Given the description of an element on the screen output the (x, y) to click on. 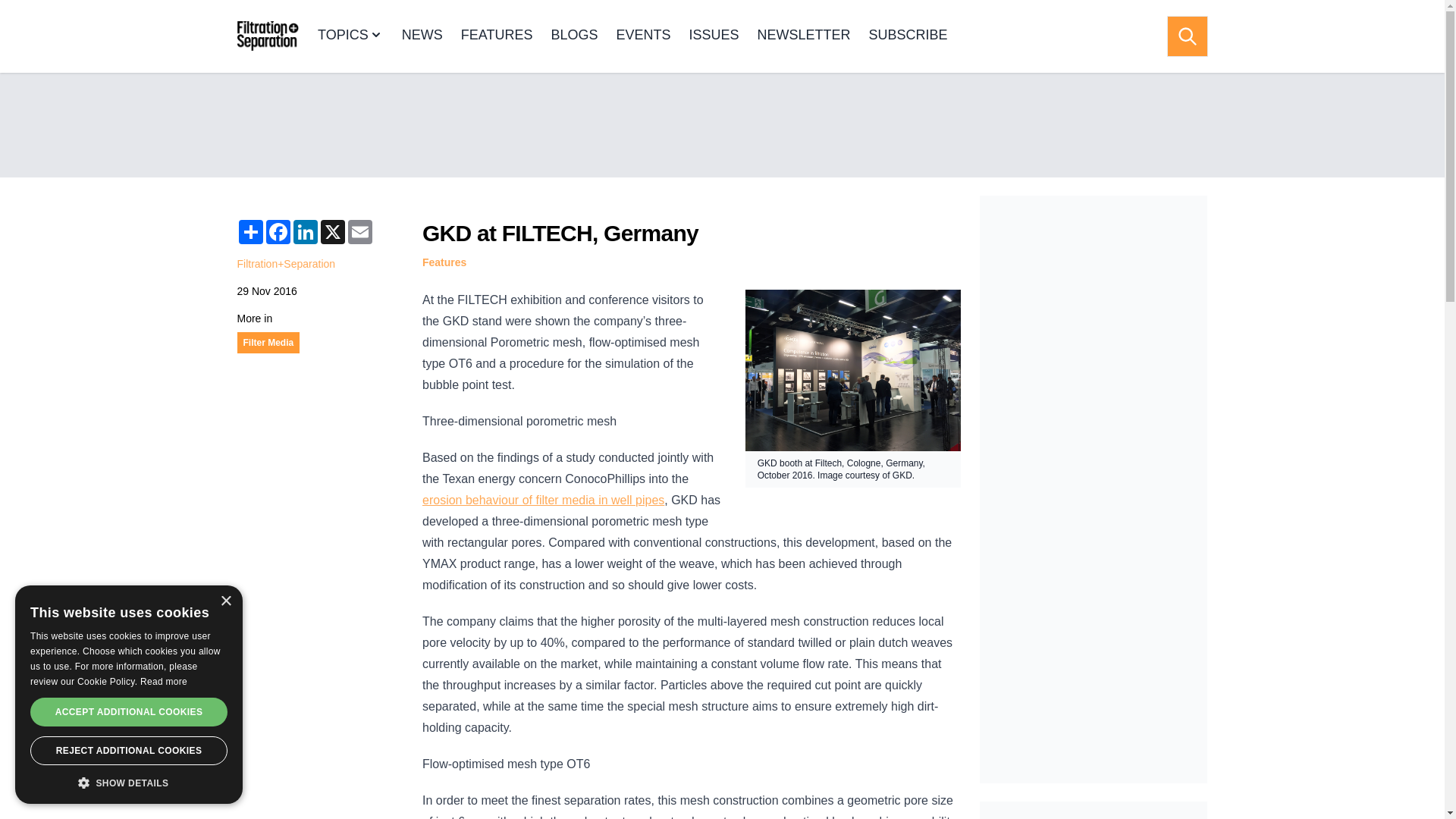
Filter Media (268, 342)
erosion behaviour of filter media in well pipes (542, 499)
TOPICS (350, 36)
SUBSCRIBE (908, 36)
LinkedIn (304, 232)
X (332, 232)
NEWS (421, 36)
NEWSLETTER (803, 36)
BLOGS (573, 36)
3rd party ad content (721, 124)
FEATURES (496, 36)
3rd party ad content (1093, 309)
3rd party ad content (1093, 810)
ISSUES (713, 36)
Share (249, 232)
